Given the description of an element on the screen output the (x, y) to click on. 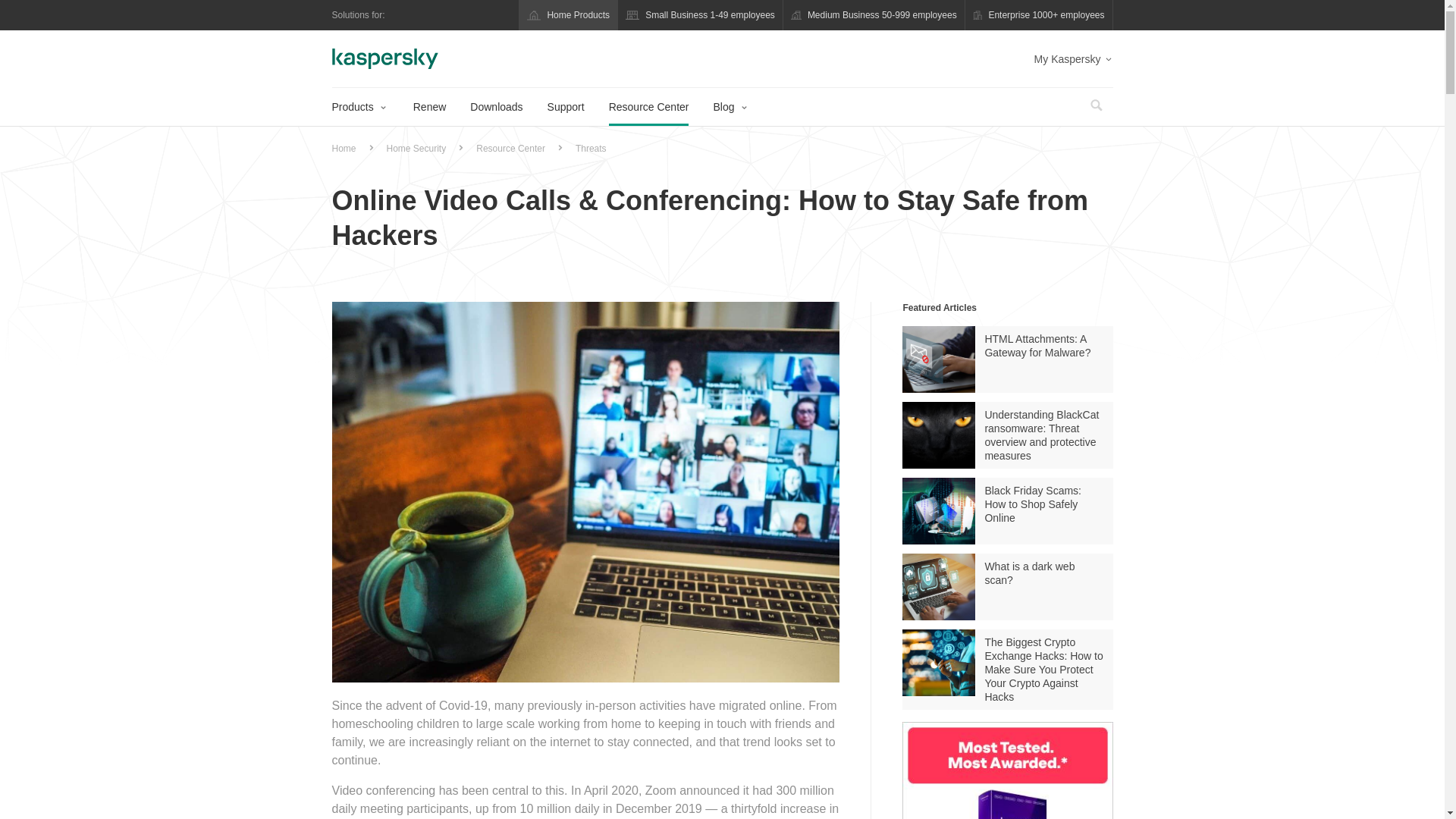
Home Products (568, 15)
Products (358, 106)
Small Business 1-49 employees (700, 15)
Blog (743, 106)
Blog (729, 106)
Products (382, 106)
Downloads (496, 106)
My Kaspersky (1073, 58)
Resource Center (648, 106)
Medium Business 50-999 employees (874, 15)
Support (566, 106)
Kaspersky logo (384, 58)
Renew (429, 106)
